Given the description of an element on the screen output the (x, y) to click on. 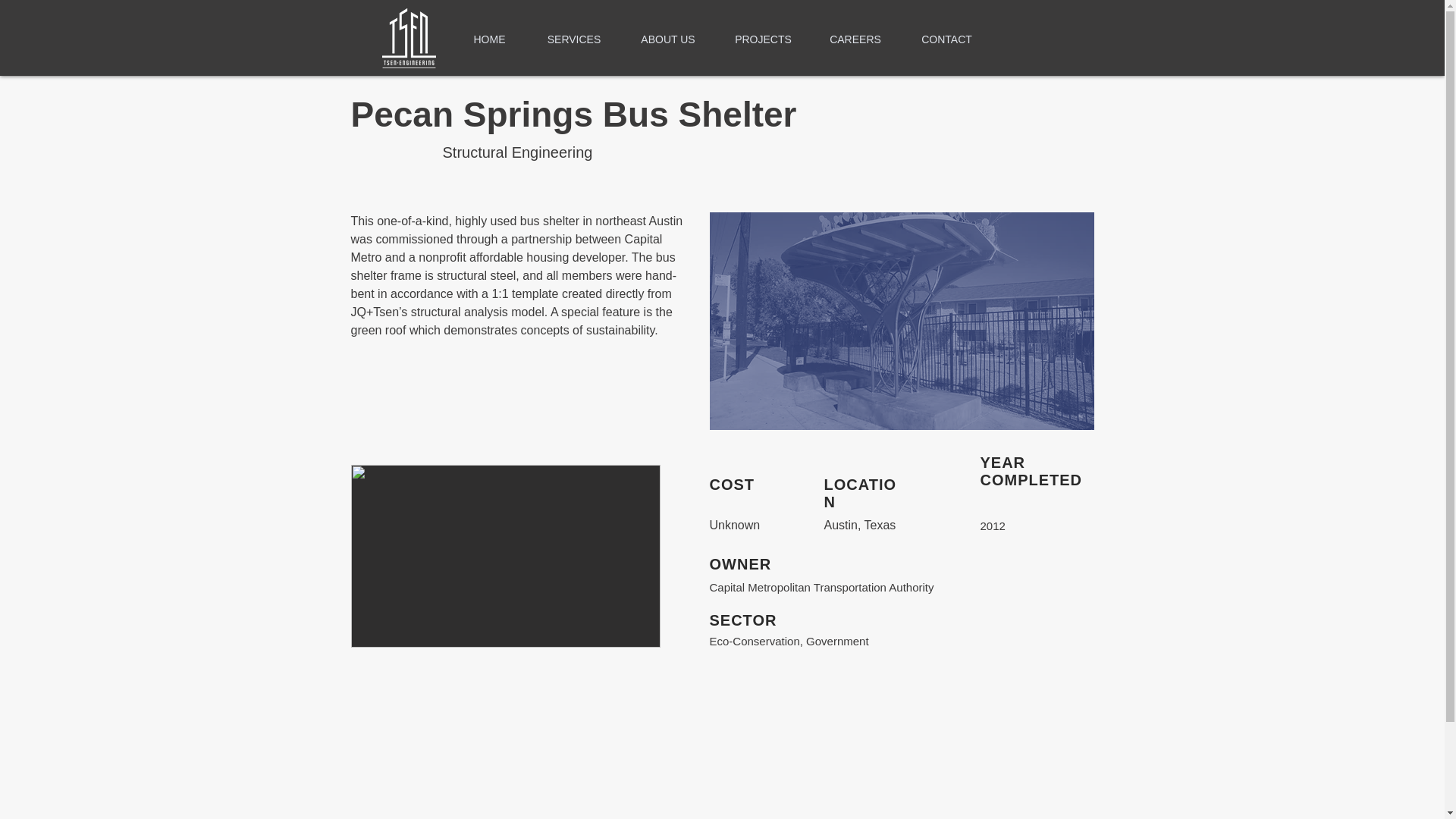
HOME (489, 39)
SERVICES (573, 39)
CAREERS (854, 39)
PROJECTS (763, 39)
CONTACT (945, 39)
ABOUT US (668, 39)
final.jpg (902, 320)
